Given the description of an element on the screen output the (x, y) to click on. 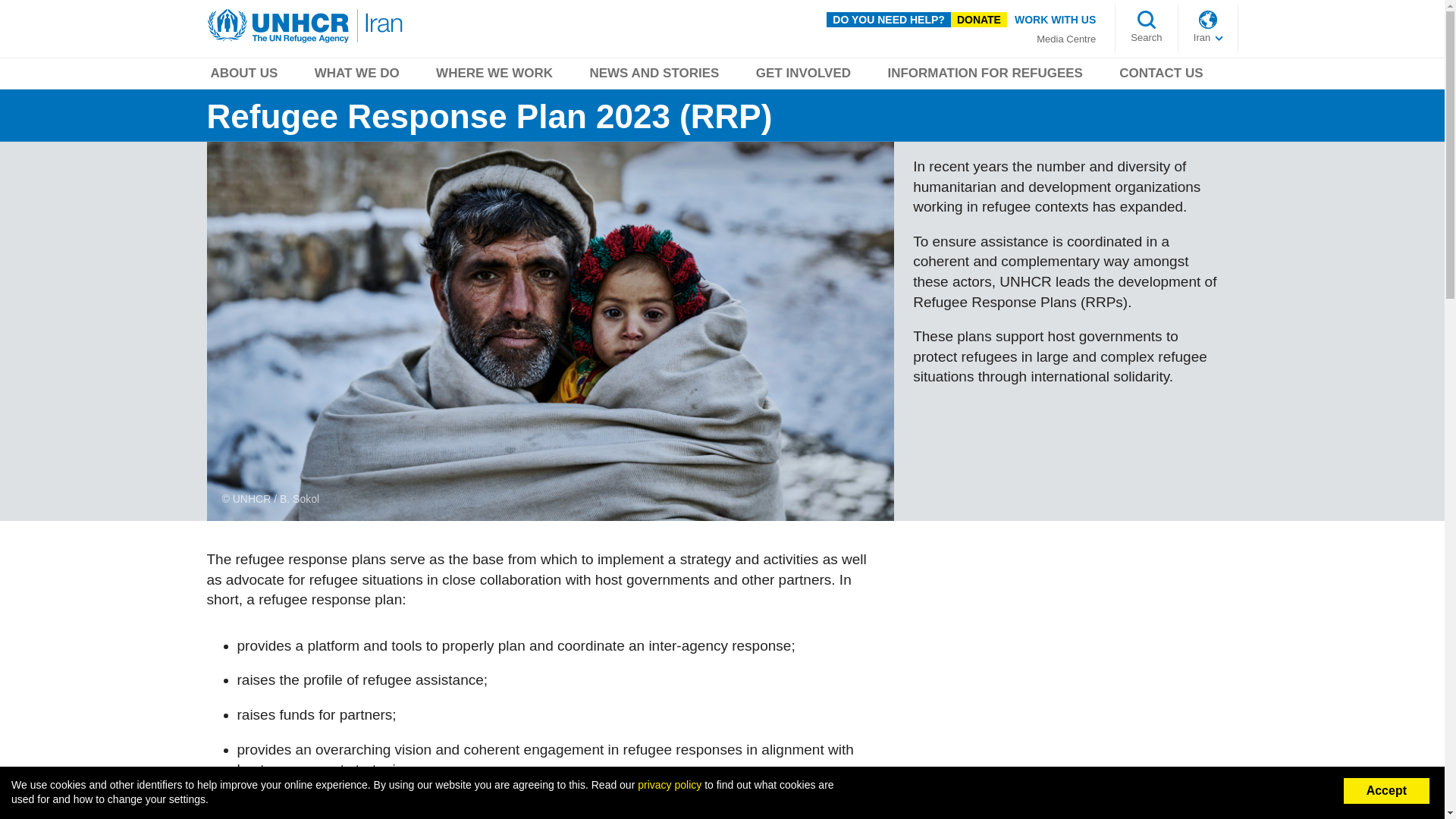
Donate (978, 19)
Media Centre (1066, 38)
Search (1146, 38)
Do you need help? (888, 19)
ABOUT US (243, 76)
Work With Us (1055, 19)
Search (1146, 38)
UNHCR Iran (306, 25)
WHAT WE DO (357, 76)
DO YOU NEED HELP? (888, 19)
Iran (1208, 38)
DONATE (978, 19)
WORK WITH US (1055, 19)
Media Centre (1066, 38)
UNHCR International (1208, 38)
